Given the description of an element on the screen output the (x, y) to click on. 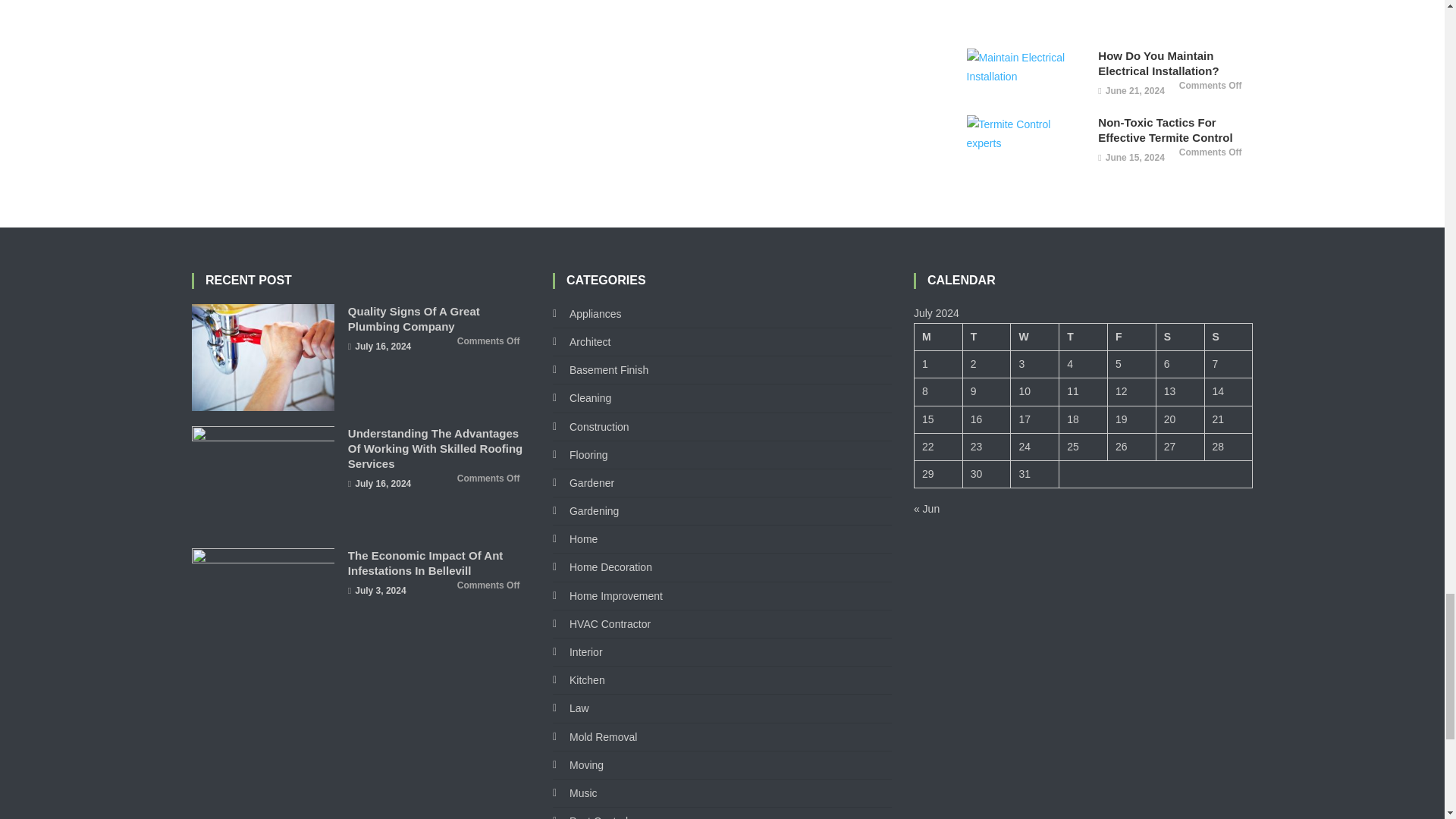
Monday (938, 336)
Thursday (1083, 336)
Friday (1131, 336)
Saturday (1180, 336)
Tuesday (986, 336)
Wednesday (1034, 336)
Sunday (1228, 336)
